Given the description of an element on the screen output the (x, y) to click on. 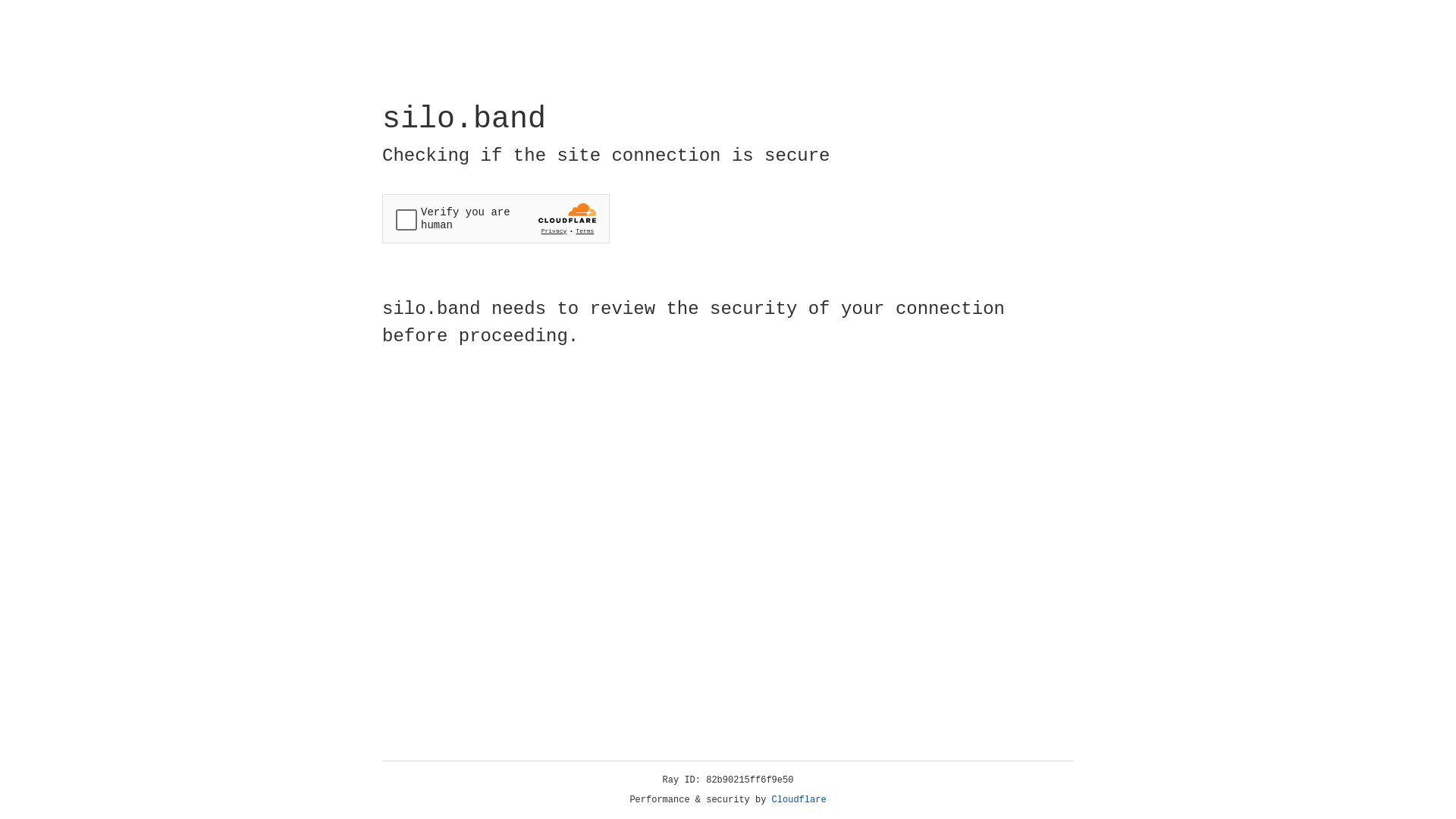
Widget containing a Cloudflare security challenge Element type: hover (495, 218)
Cloudflare Element type: text (798, 799)
